Given the description of an element on the screen output the (x, y) to click on. 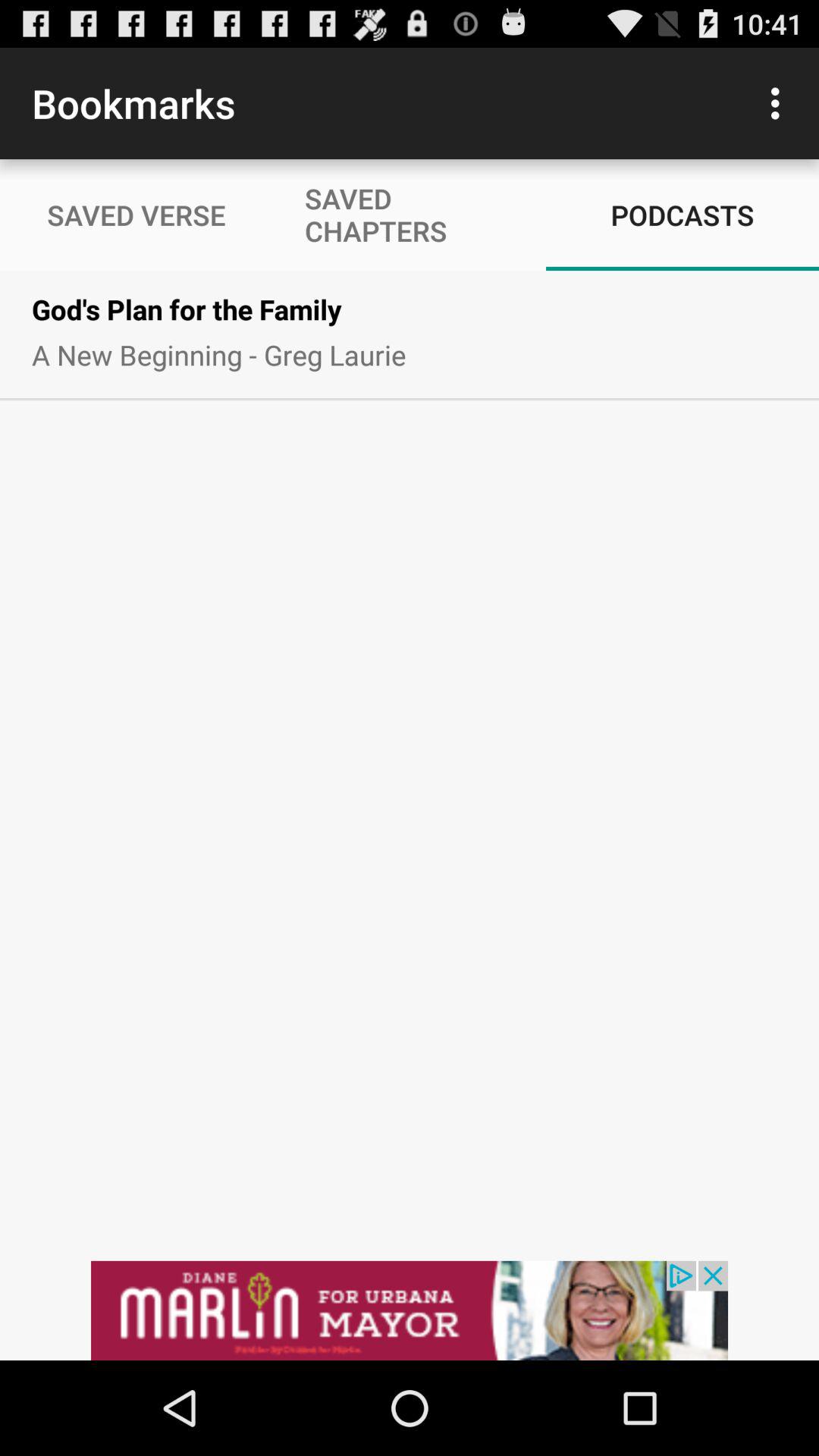
learn more about this mayoral candidate (409, 1310)
